Given the description of an element on the screen output the (x, y) to click on. 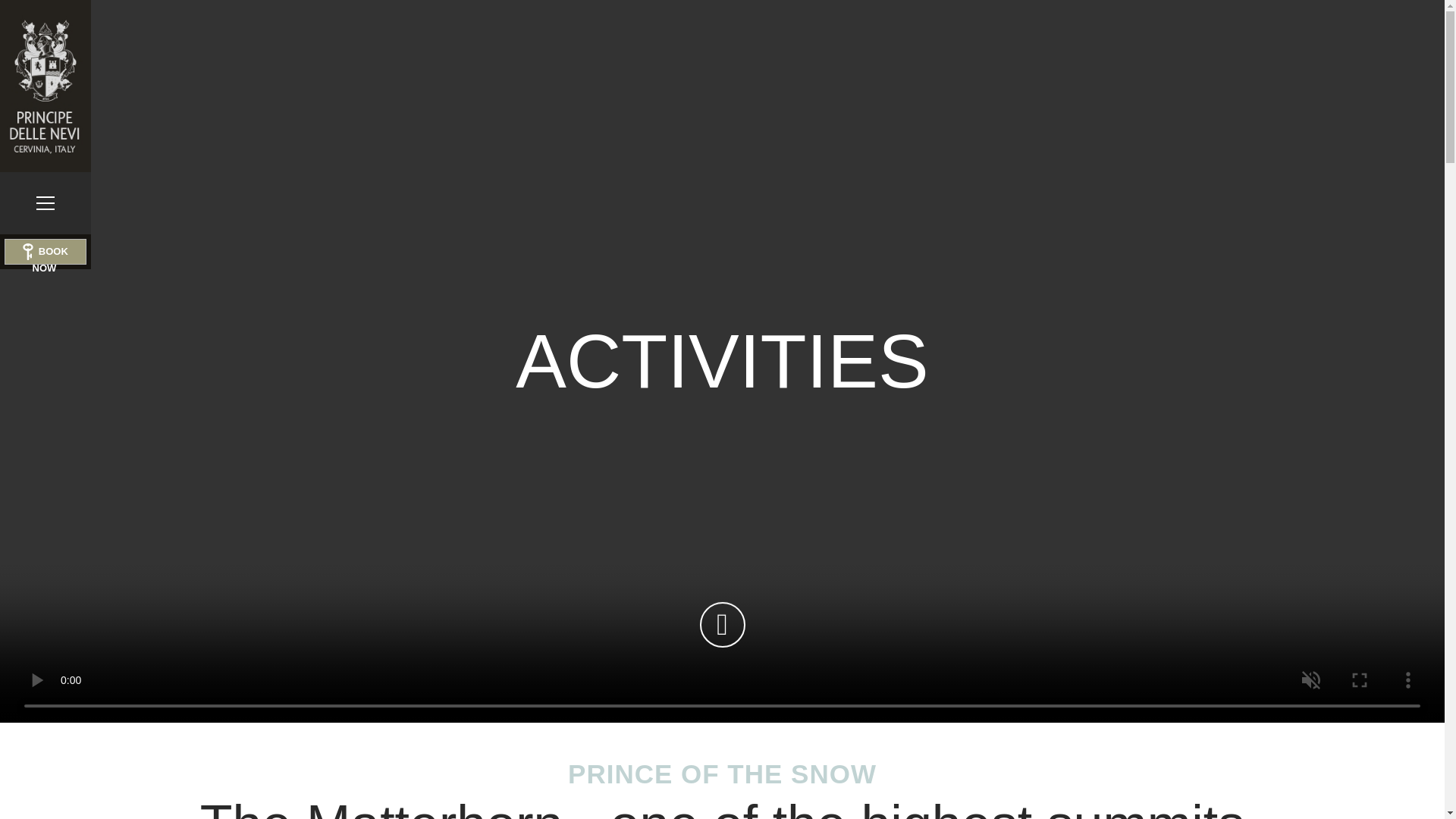
BOOK NOW (44, 251)
